Given the description of an element on the screen output the (x, y) to click on. 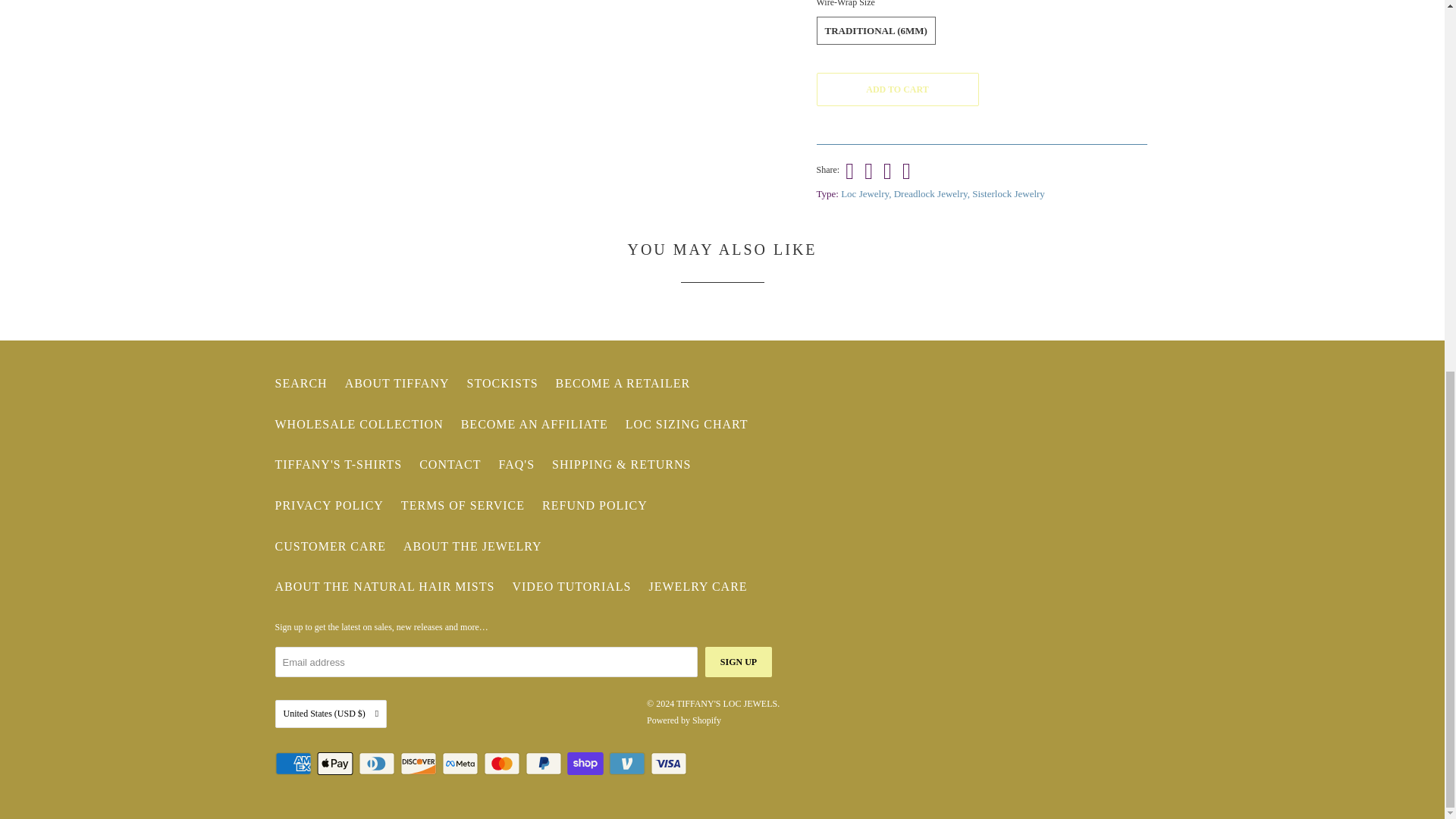
Mastercard (502, 763)
Venmo (627, 763)
Apple Pay (336, 763)
American Express (294, 763)
PayPal (544, 763)
Diners Club (377, 763)
Meta Pay (460, 763)
Shop Pay (587, 763)
Sign Up (737, 662)
Discover (419, 763)
FAIRYTALE ROMANCE in Rainbow Metallic Loc Jewel (548, 72)
Loc Jewelry, Dreadlock Jewelry, Sisterlock Jewelry (943, 193)
Visa (670, 763)
